Given the description of an element on the screen output the (x, y) to click on. 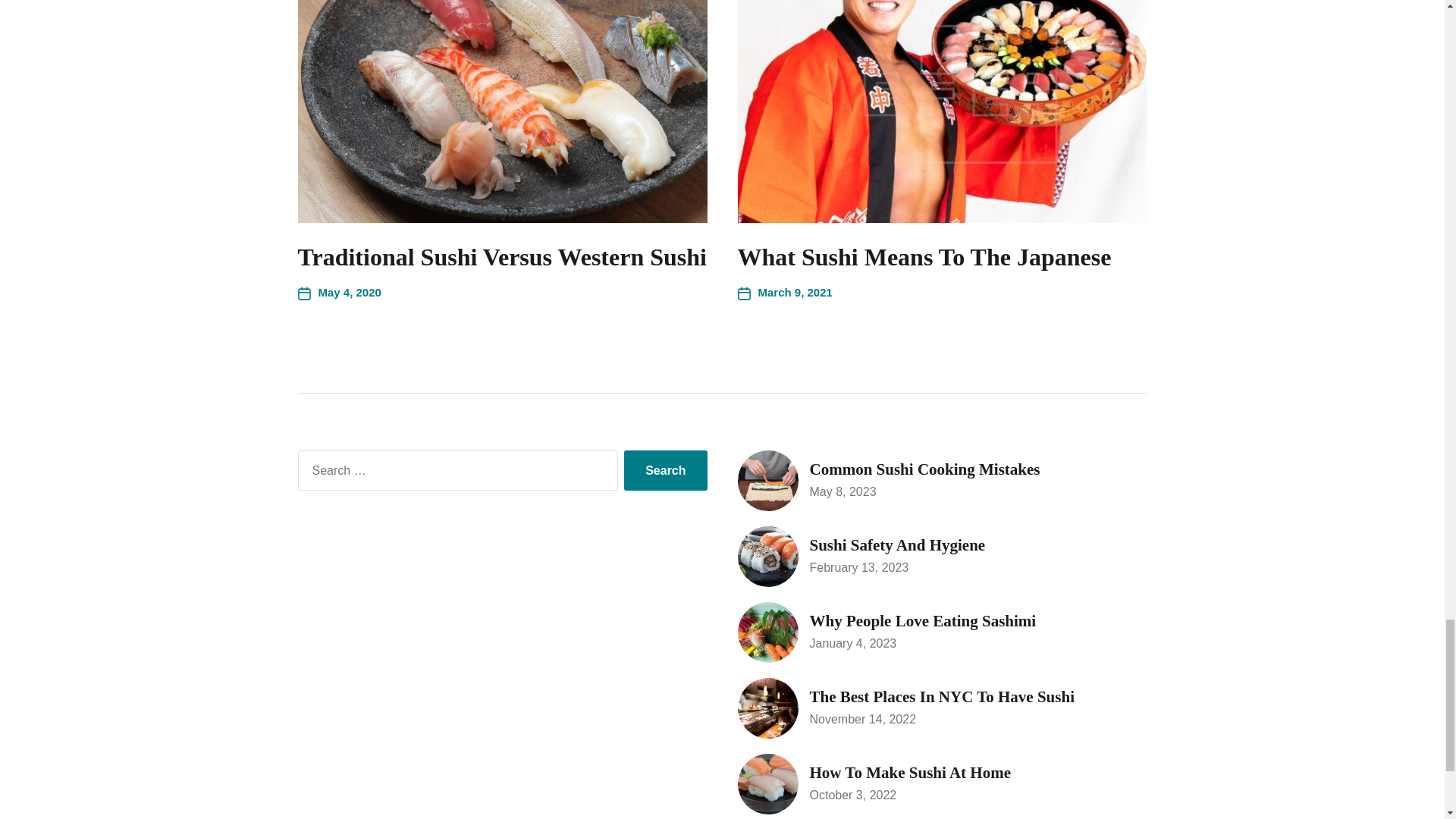
Sushi Safety And Hygiene (941, 556)
Search (665, 470)
Traditional Sushi Versus Western Sushi (501, 257)
Common Sushi Cooking Mistakes (941, 480)
The Best Places In NYC To Have Sushi (941, 708)
How To Make Sushi At Home (941, 783)
Why People Love Eating Sashimi (941, 631)
Search (665, 470)
March 9, 2021 (783, 293)
May 4, 2020 (338, 293)
What Sushi Means To The Japanese (923, 257)
Search (665, 470)
